Given the description of an element on the screen output the (x, y) to click on. 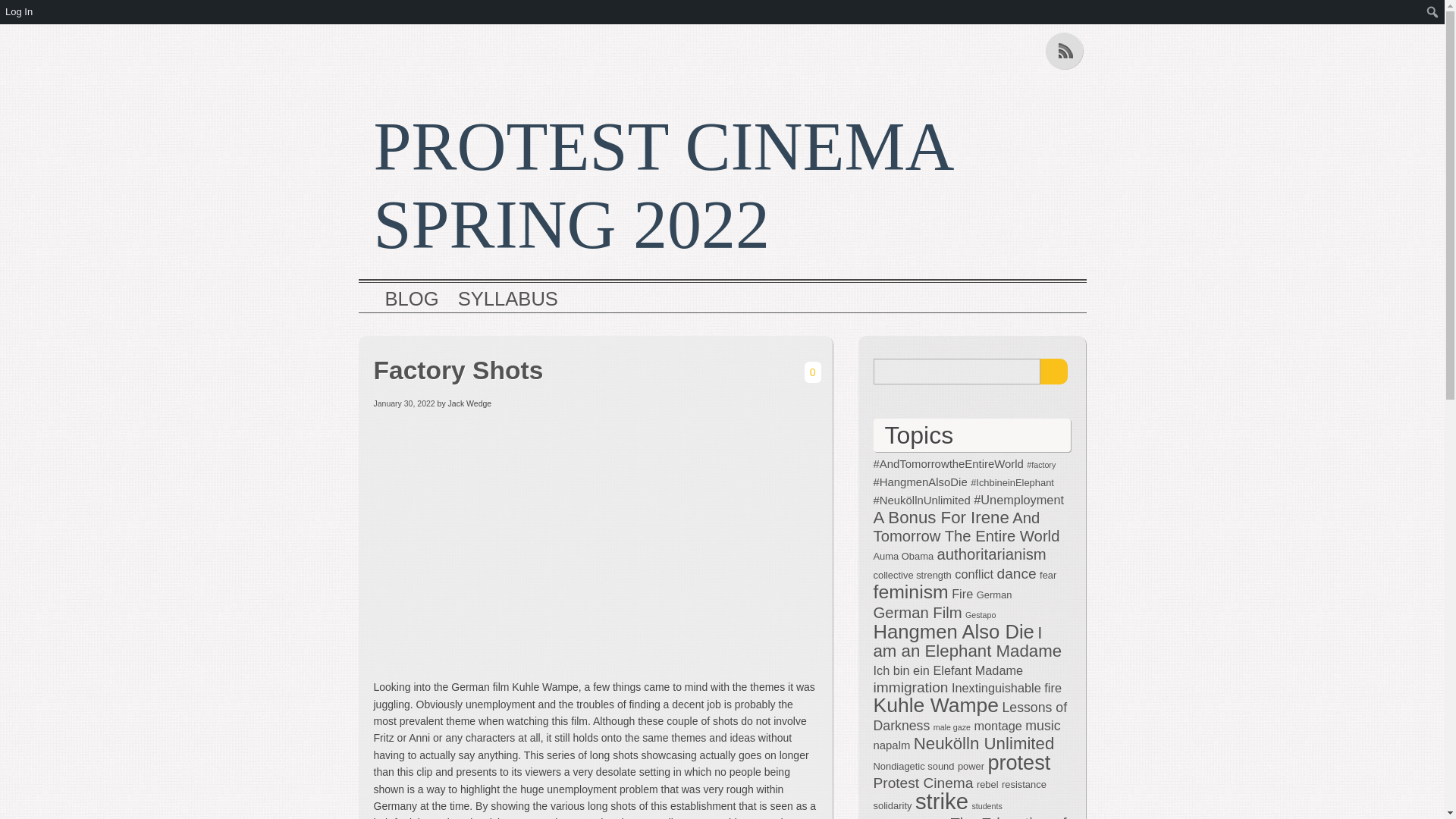
SYLLABUS (507, 299)
Fire (962, 593)
A Bonus For Irene (941, 517)
And Tomorrow The Entire World (966, 526)
YouTube video player (584, 543)
Search (1054, 371)
BLOG (412, 299)
authoritarianism (991, 554)
Auma Obama (903, 555)
Factory Shots (531, 370)
conflict (973, 573)
collective strength (912, 574)
feminism (911, 591)
fear (1048, 574)
PROTEST CINEMA SPRING 2022 (661, 185)
